Given the description of an element on the screen output the (x, y) to click on. 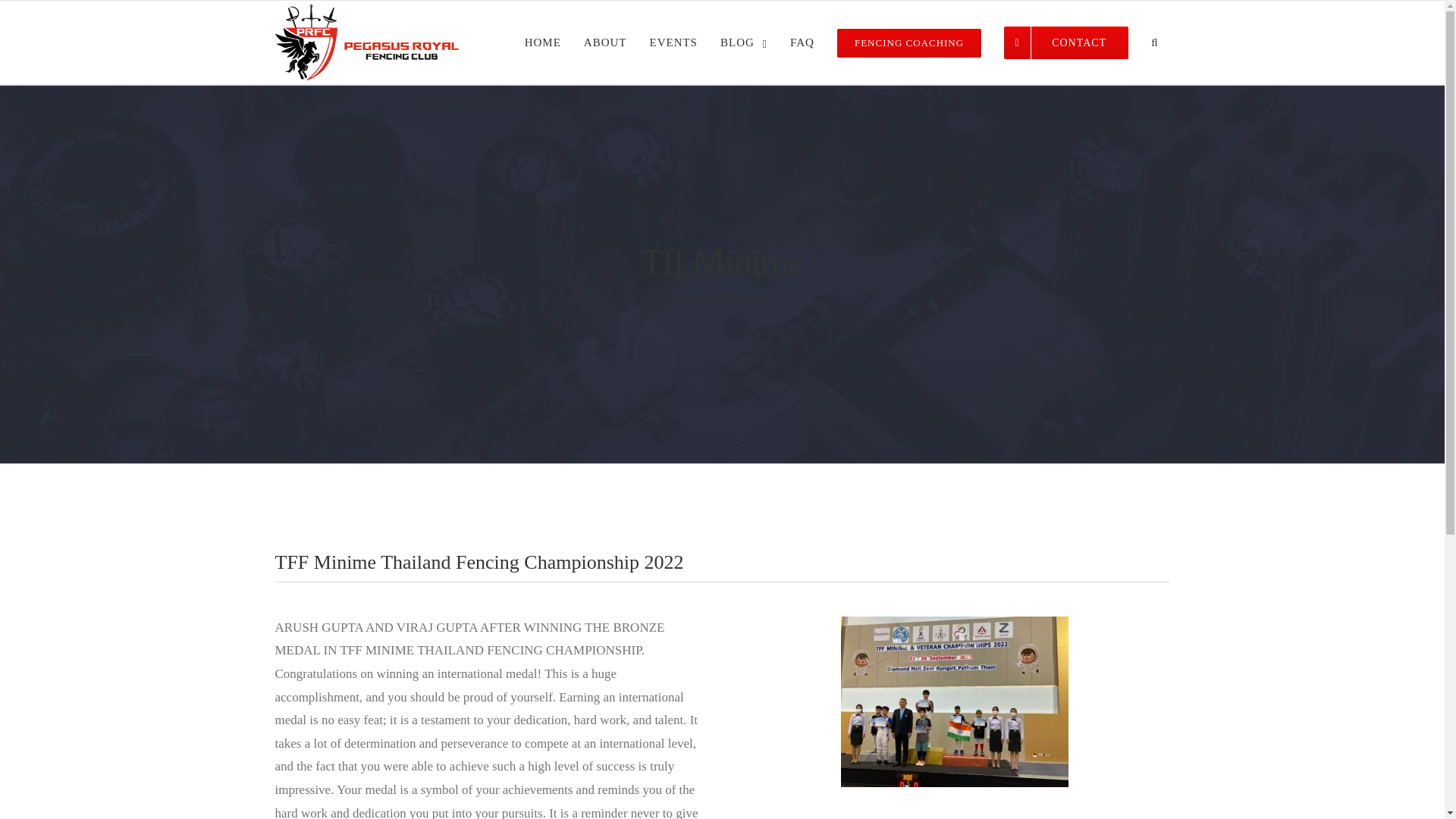
TFF Minime Thailand Fencing Championship 2022 (722, 572)
FENCING COACHING (908, 42)
CONTACT (1066, 42)
Home (690, 298)
